Given the description of an element on the screen output the (x, y) to click on. 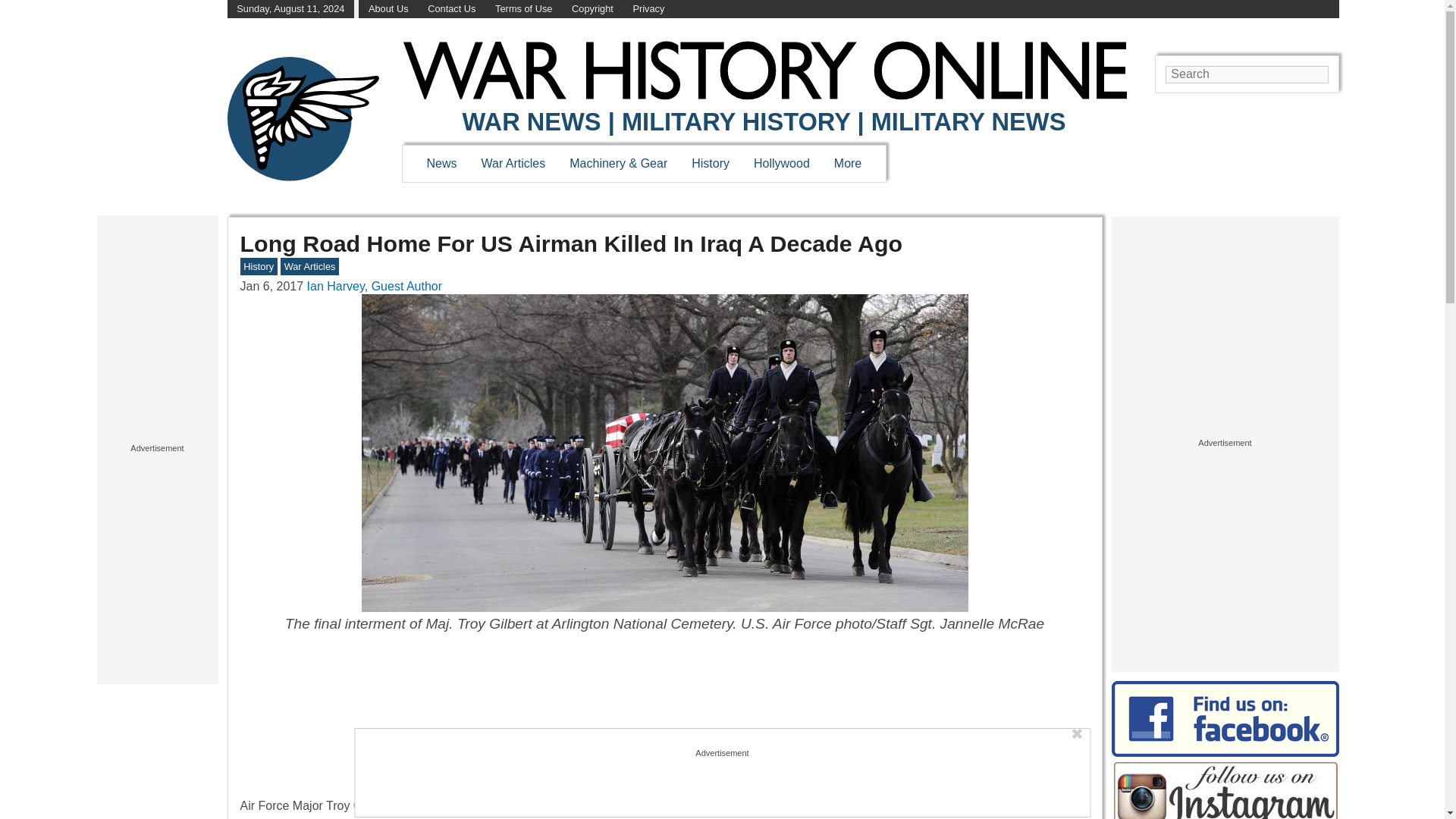
Privacy (647, 8)
Hollywood (781, 163)
Terms of Use (523, 8)
News (441, 163)
About Us (388, 8)
History (710, 163)
Contact Us (452, 8)
Copyright (592, 8)
More (847, 163)
War Articles (513, 163)
